Given the description of an element on the screen output the (x, y) to click on. 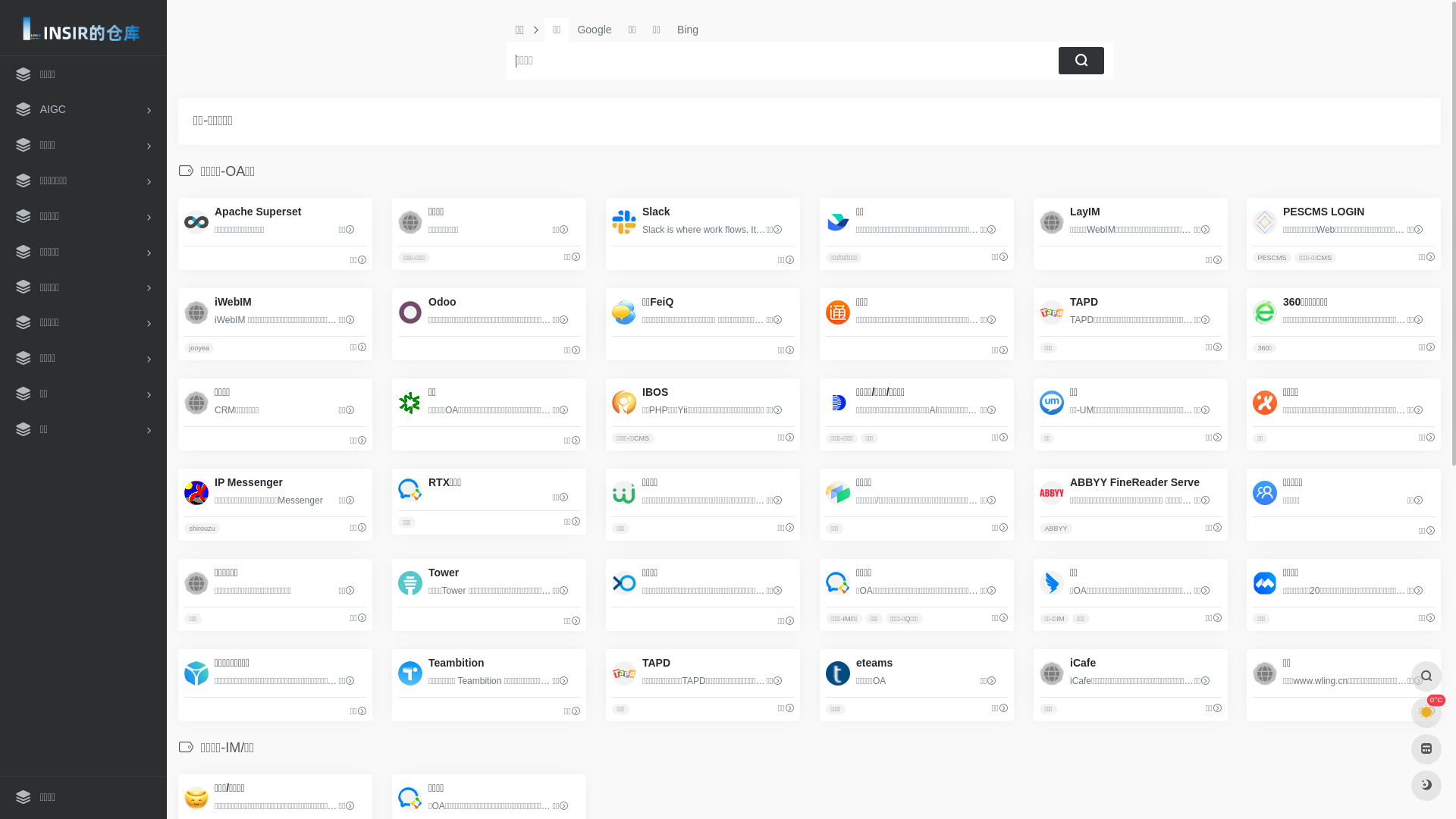
AIGC Element type: text (83, 109)
PESCMS Element type: text (1271, 257)
shirouzu Element type: text (201, 528)
jooyea Element type: text (198, 347)
ABBYY Element type: text (1055, 528)
